Given the description of an element on the screen output the (x, y) to click on. 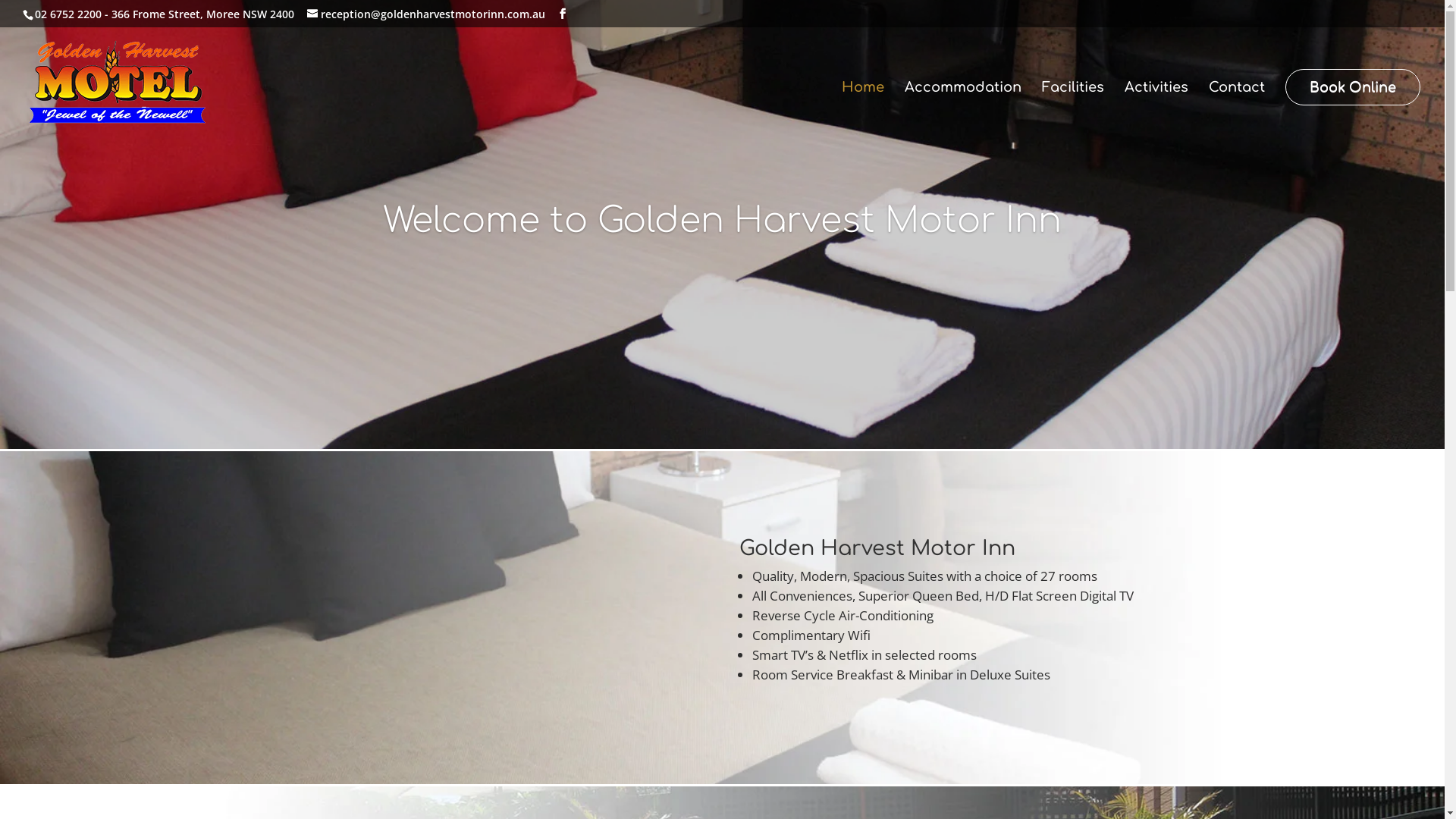
02 6752 2200 Element type: text (67, 13)
Activities Element type: text (1156, 107)
Contact Element type: text (1236, 107)
Accommodation Element type: text (962, 107)
Home Element type: text (862, 107)
reception@goldenharvestmotorinn.com.au Element type: text (426, 13)
Facilities Element type: text (1072, 107)
Book Online Element type: text (1352, 87)
